Given the description of an element on the screen output the (x, y) to click on. 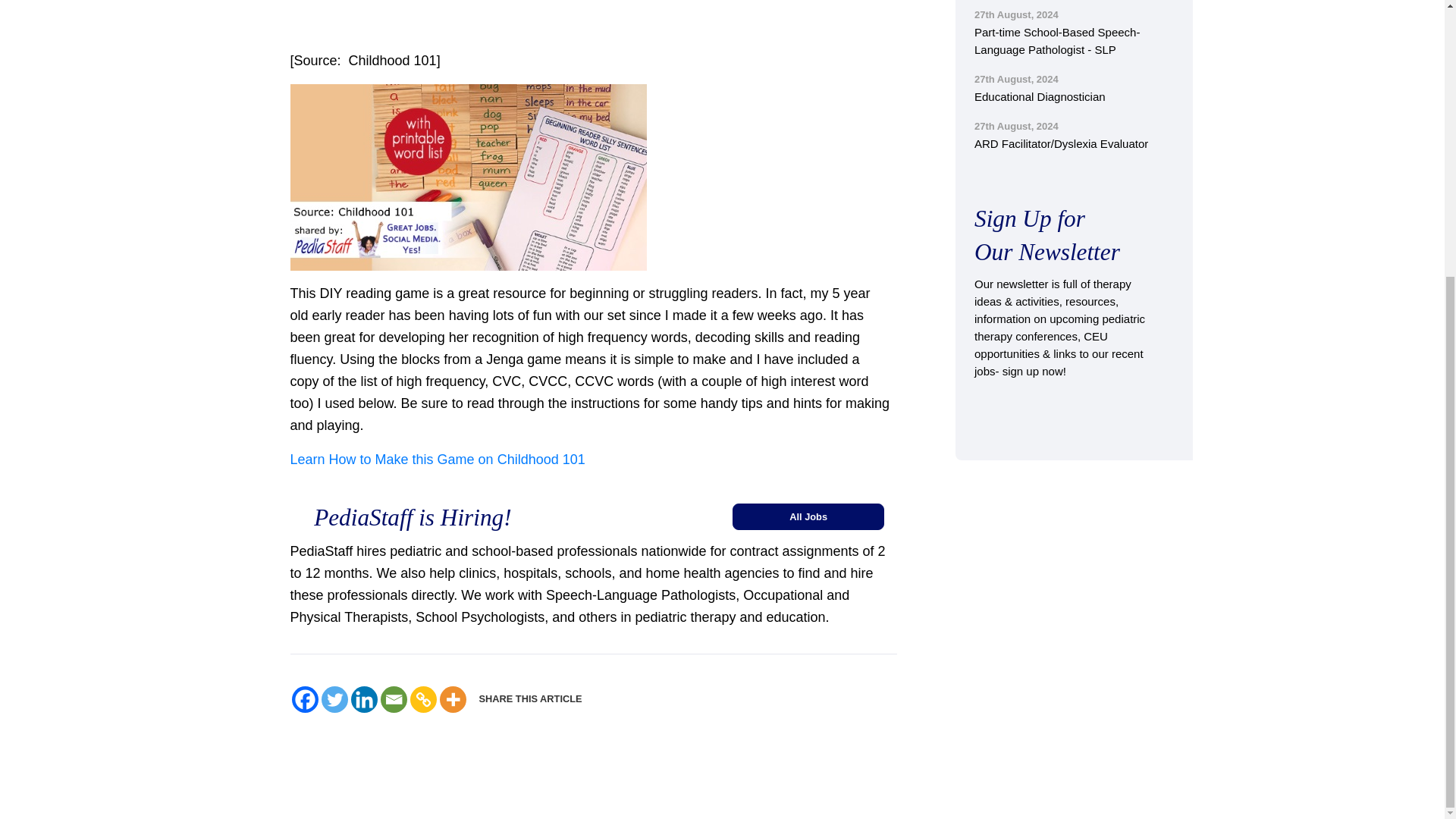
Twitter (334, 699)
More (452, 699)
Linkedin (363, 699)
Facebook (304, 699)
Email (393, 699)
Copy Link (422, 699)
